Given the description of an element on the screen output the (x, y) to click on. 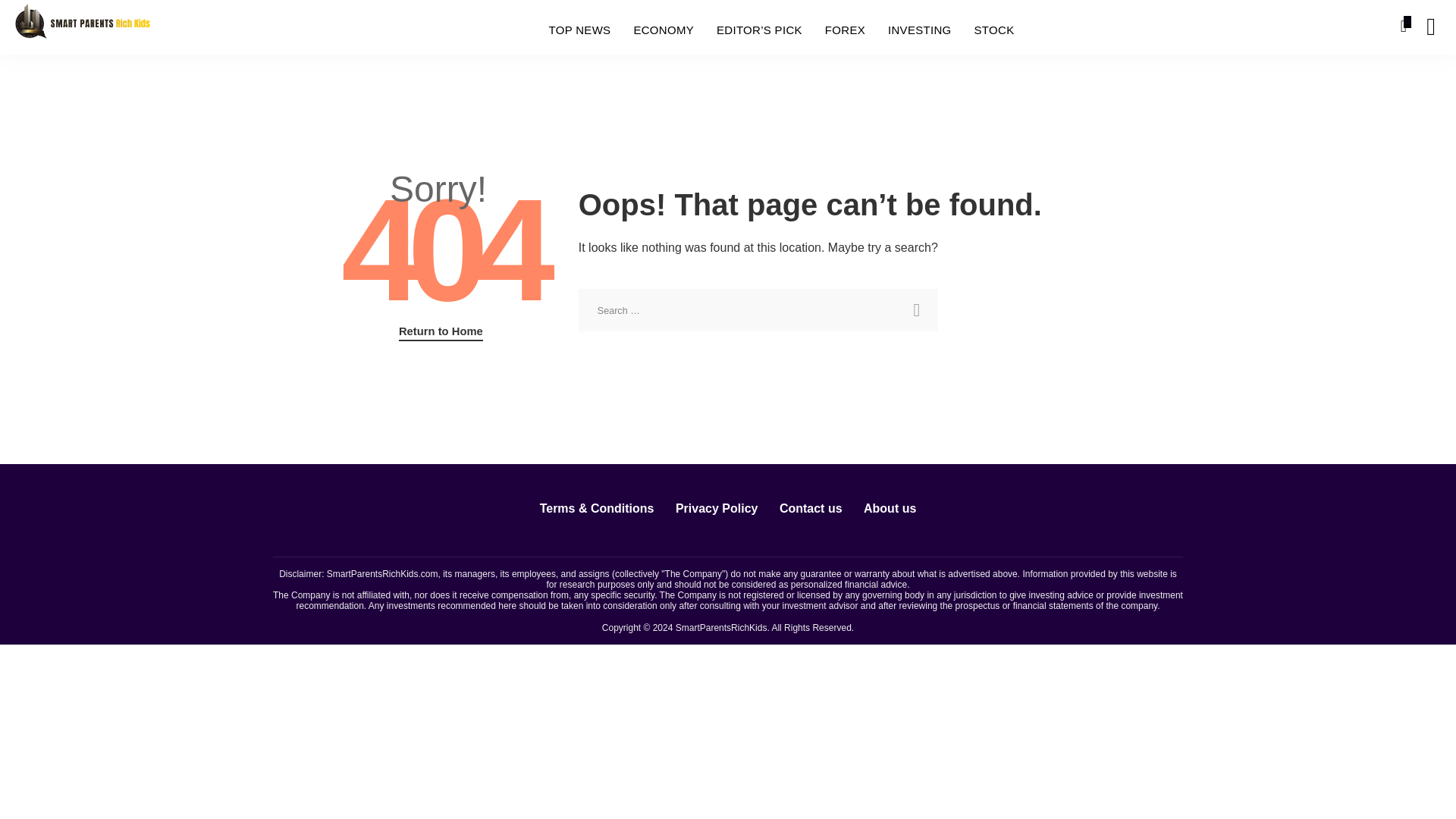
TOP NEWS (580, 30)
Return to Home (440, 331)
Search (916, 310)
Contact us (810, 507)
FOREX (844, 30)
INVESTING (919, 30)
ECONOMY (662, 30)
Search (1419, 84)
SmartParentsRichKids.com (382, 573)
Search (916, 310)
Search (1146, 27)
Return to Home (440, 331)
Search (916, 310)
Smart Parents Rich Kids (81, 26)
About us (889, 507)
